Given the description of an element on the screen output the (x, y) to click on. 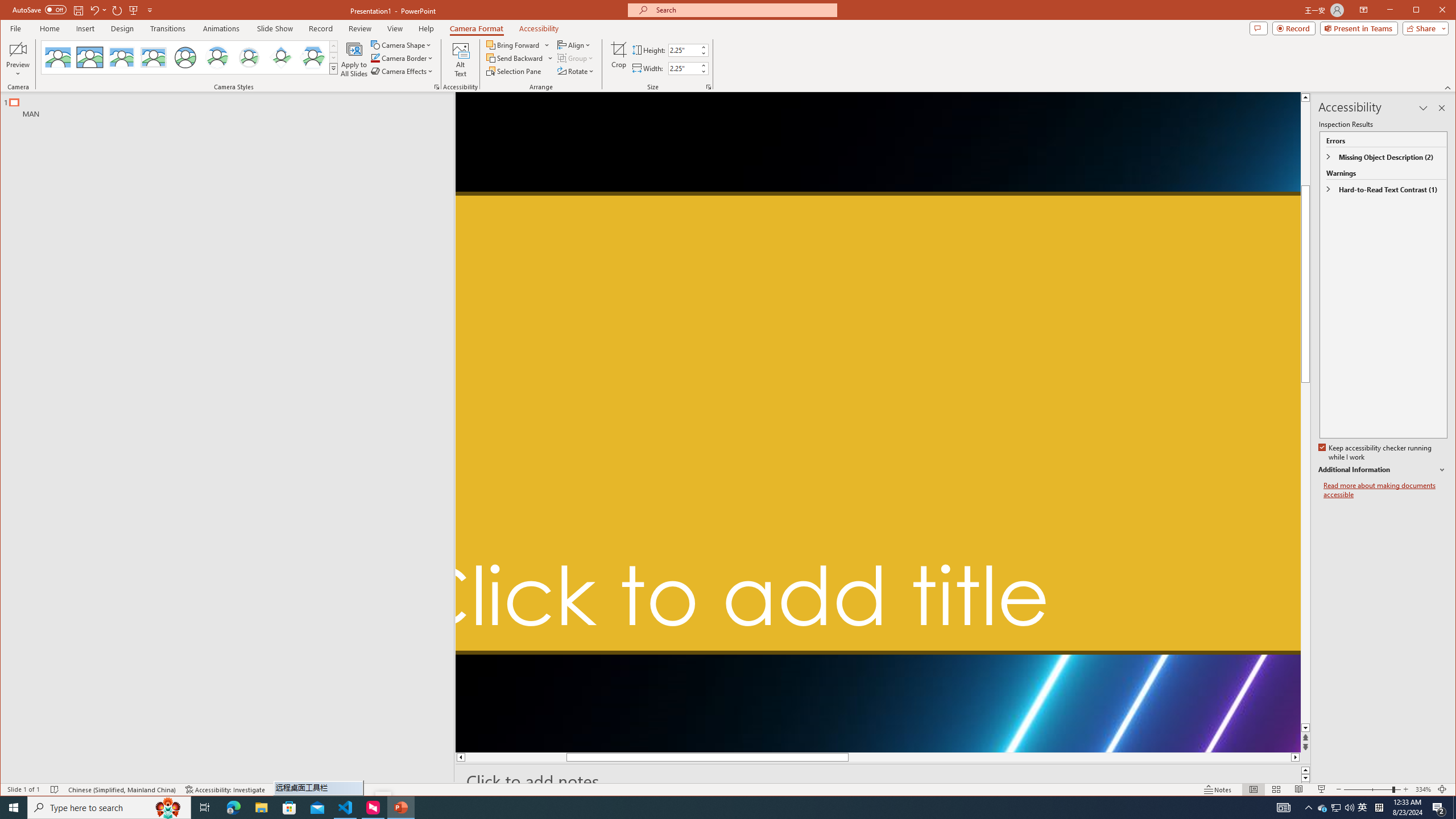
Camera Styles (333, 68)
Size and Position... (708, 86)
Keep accessibility checker running while I work (1375, 452)
Bring Forward (513, 44)
Camera Effects (402, 70)
Outline (231, 104)
Additional Information (1382, 469)
